Given the description of an element on the screen output the (x, y) to click on. 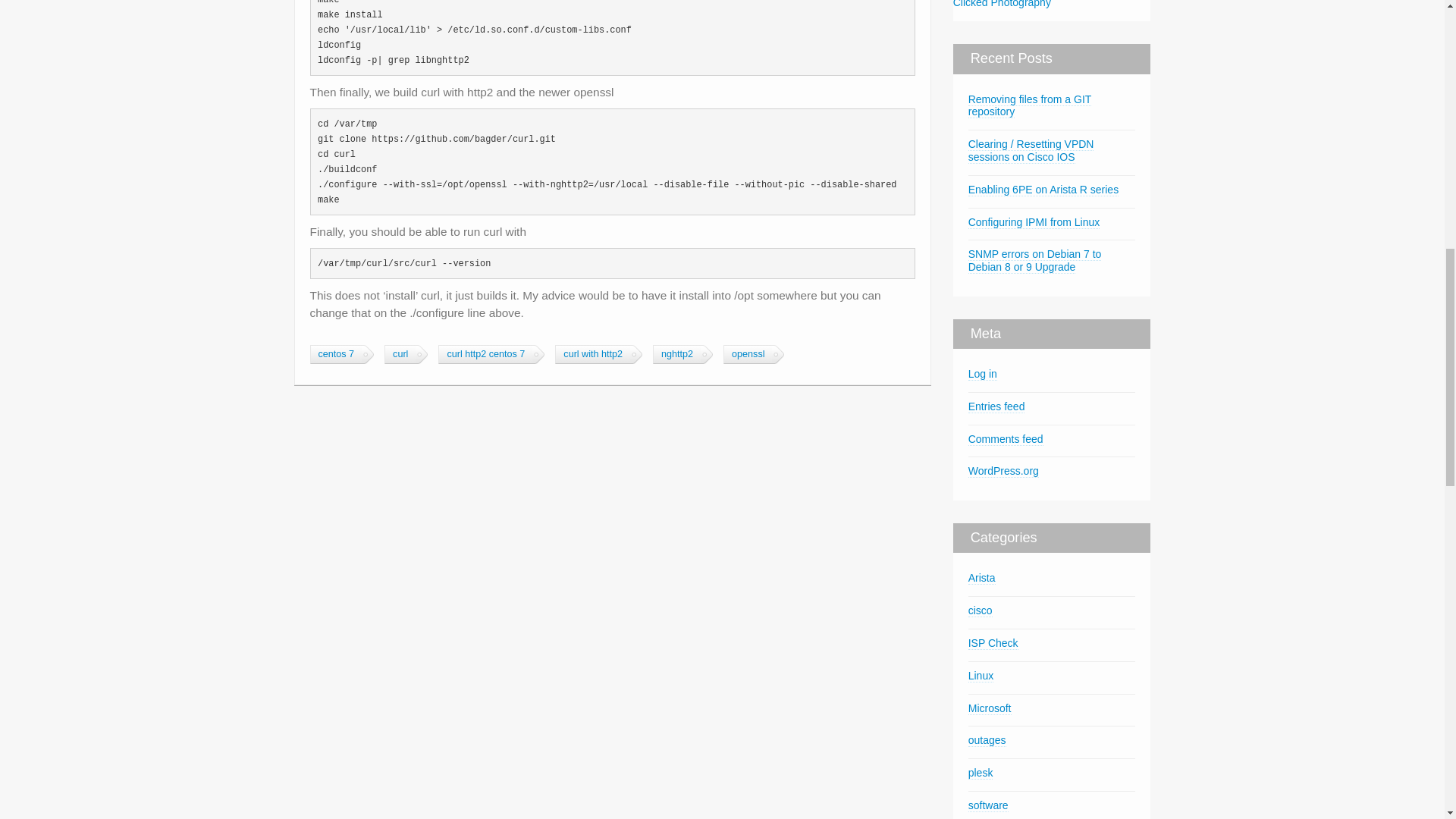
openssl (747, 353)
Removing files from a GIT repository (1030, 105)
curl with http2 (592, 353)
Clicked Photography (1002, 4)
nghttp2 (676, 353)
curl http2 centos 7 (485, 353)
curl (399, 353)
centos 7 (334, 353)
